Given the description of an element on the screen output the (x, y) to click on. 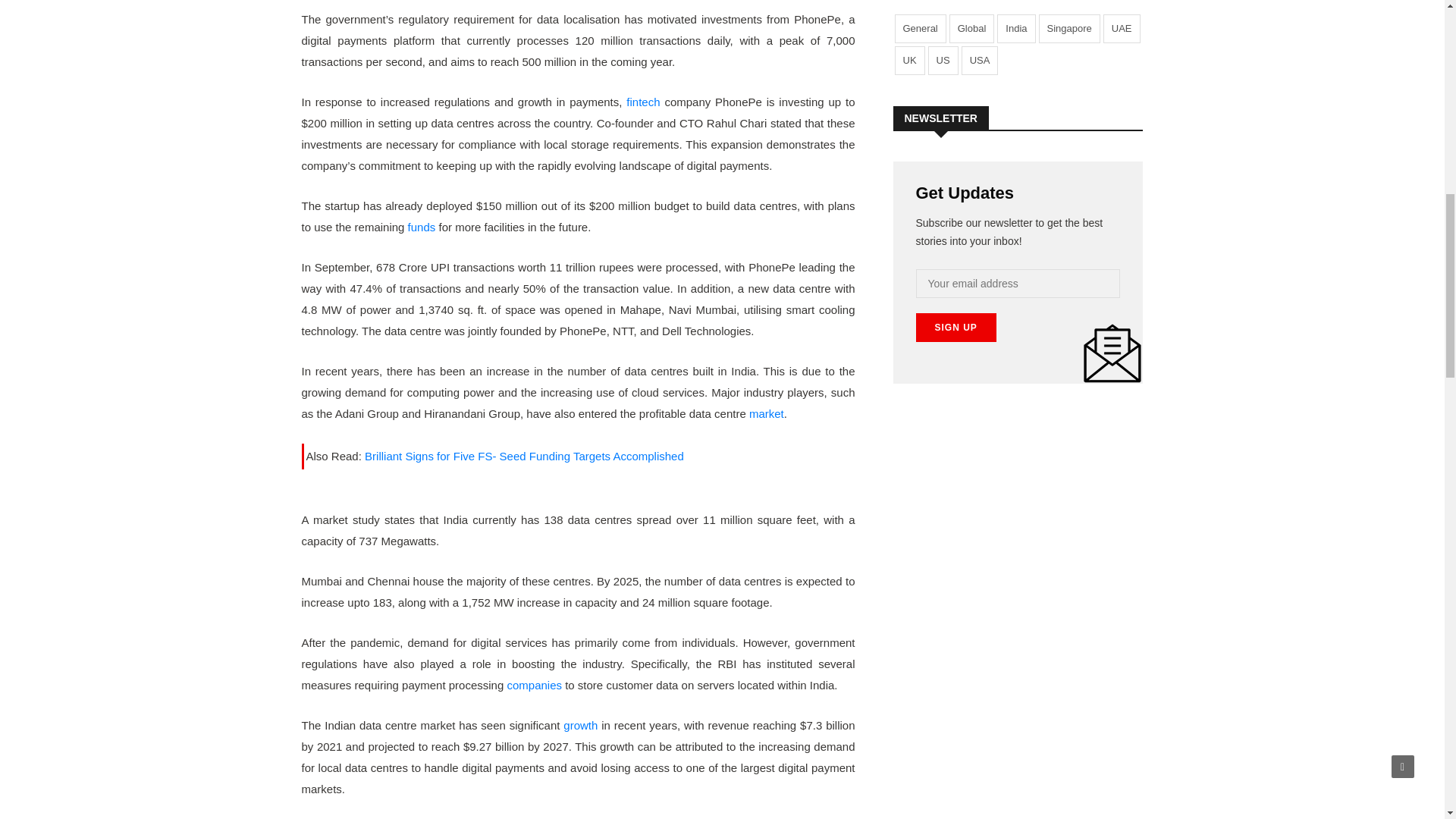
market (766, 413)
Sign up (955, 327)
companies (534, 684)
funds (421, 226)
growth (579, 725)
fintech (642, 101)
